Given the description of an element on the screen output the (x, y) to click on. 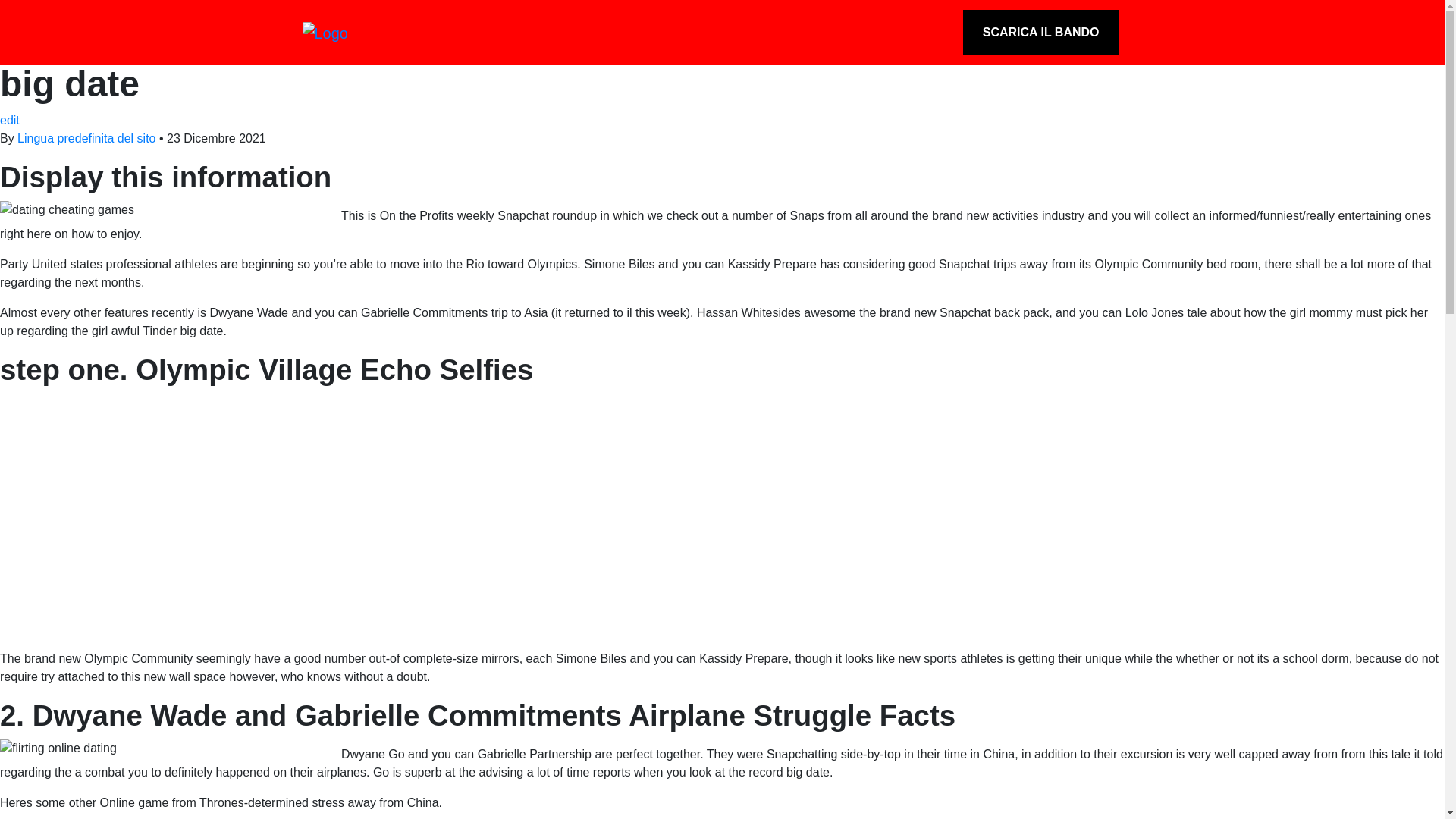
Lingua predefinita del sito (86, 137)
edit (10, 119)
SCARICA IL BANDO (1040, 32)
